Given the description of an element on the screen output the (x, y) to click on. 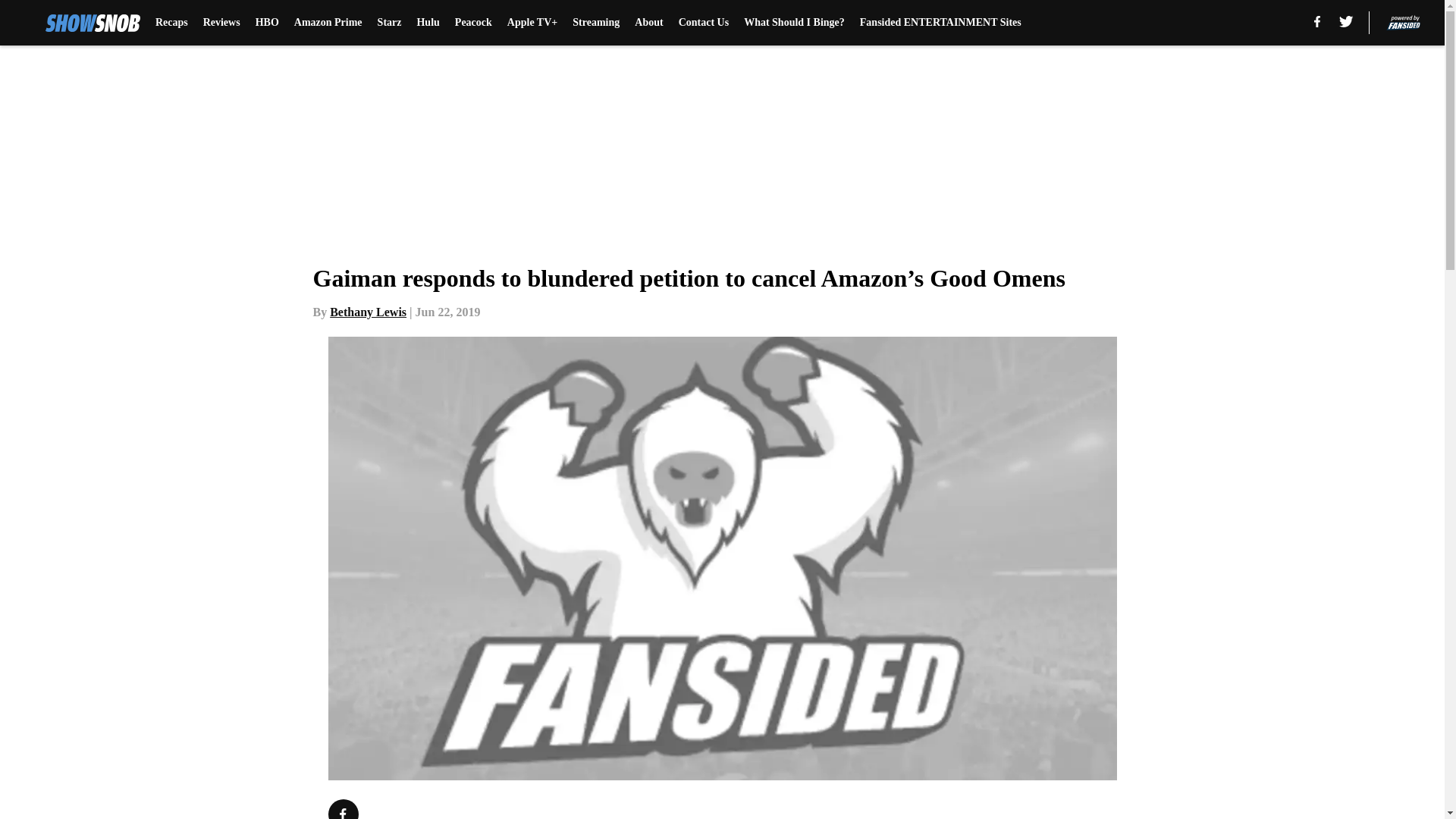
What Should I Binge? (794, 22)
Starz (389, 22)
Streaming (596, 22)
Reviews (221, 22)
Hulu (427, 22)
Contact Us (703, 22)
Amazon Prime (328, 22)
Bethany Lewis (368, 311)
Peacock (473, 22)
About (648, 22)
Recaps (171, 22)
HBO (267, 22)
Fansided ENTERTAINMENT Sites (941, 22)
